Given the description of an element on the screen output the (x, y) to click on. 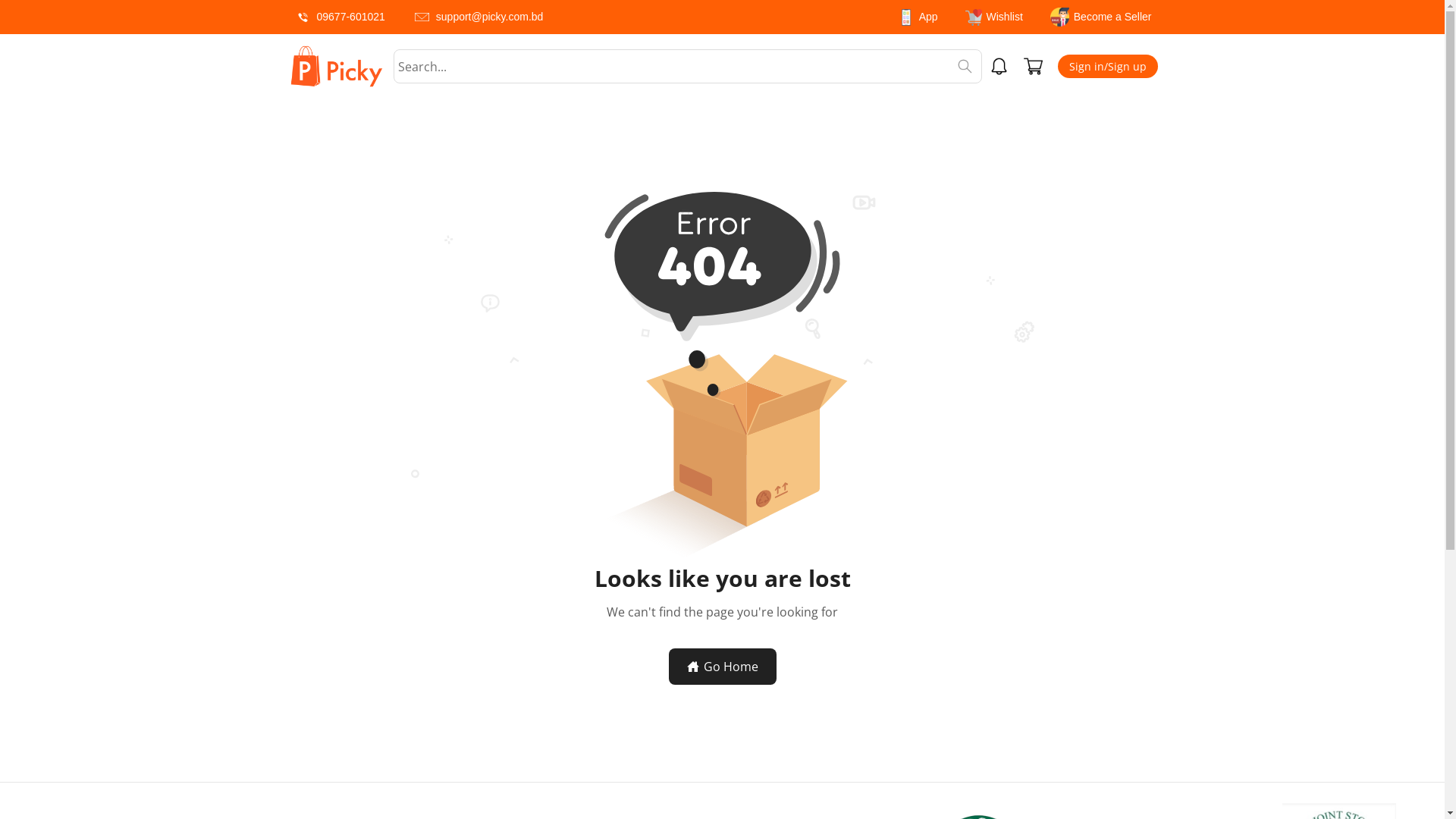
support@picky.com.bd Element type: text (477, 17)
09677-601021 Element type: text (338, 17)
App Element type: text (917, 17)
Go Home Element type: text (722, 666)
Become a Seller Element type: text (1100, 17)
